Given the description of an element on the screen output the (x, y) to click on. 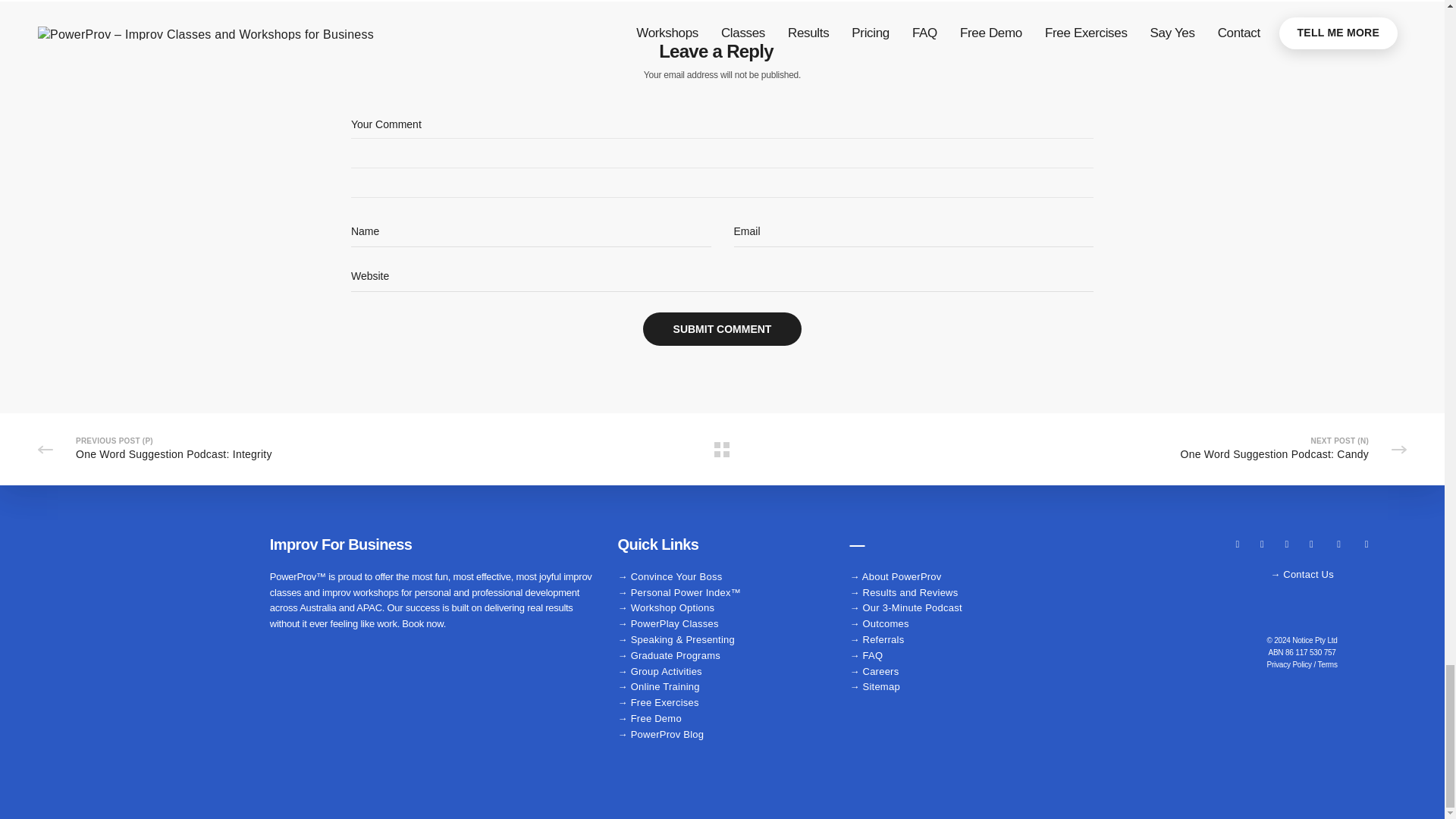
Back (721, 449)
Submit Comment (722, 328)
